Given the description of an element on the screen output the (x, y) to click on. 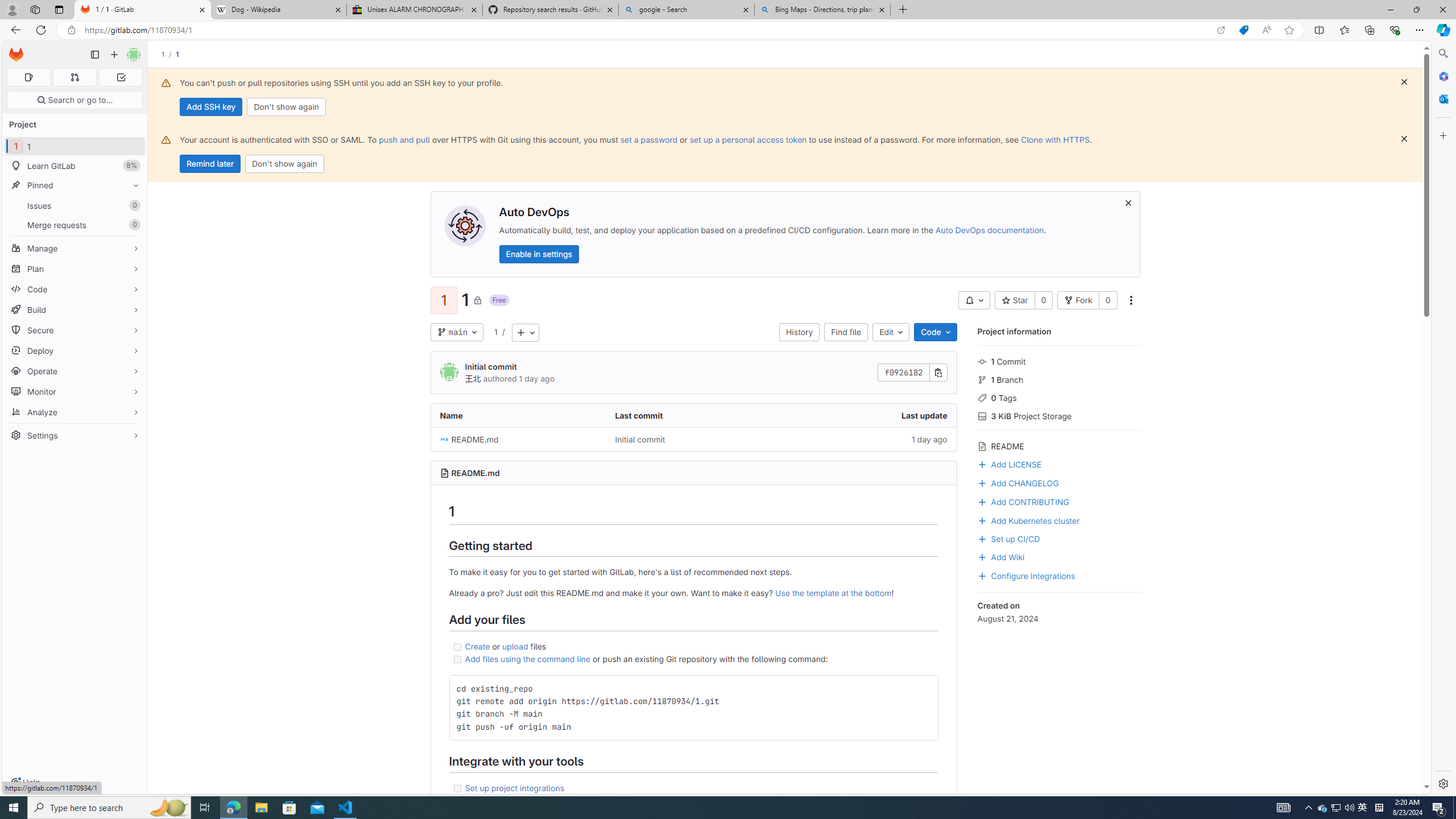
Class: s16 gl-text-blue-500! gl-mr-3 (981, 501)
Learn GitLab 8% (74, 165)
Add CONTRIBUTING (1022, 501)
Initial commit (639, 439)
set a password (649, 139)
Initial commit (693, 439)
0 (1107, 300)
Code (935, 331)
Monitor (74, 391)
0 Tags (1058, 396)
Pinned (74, 185)
